Given the description of an element on the screen output the (x, y) to click on. 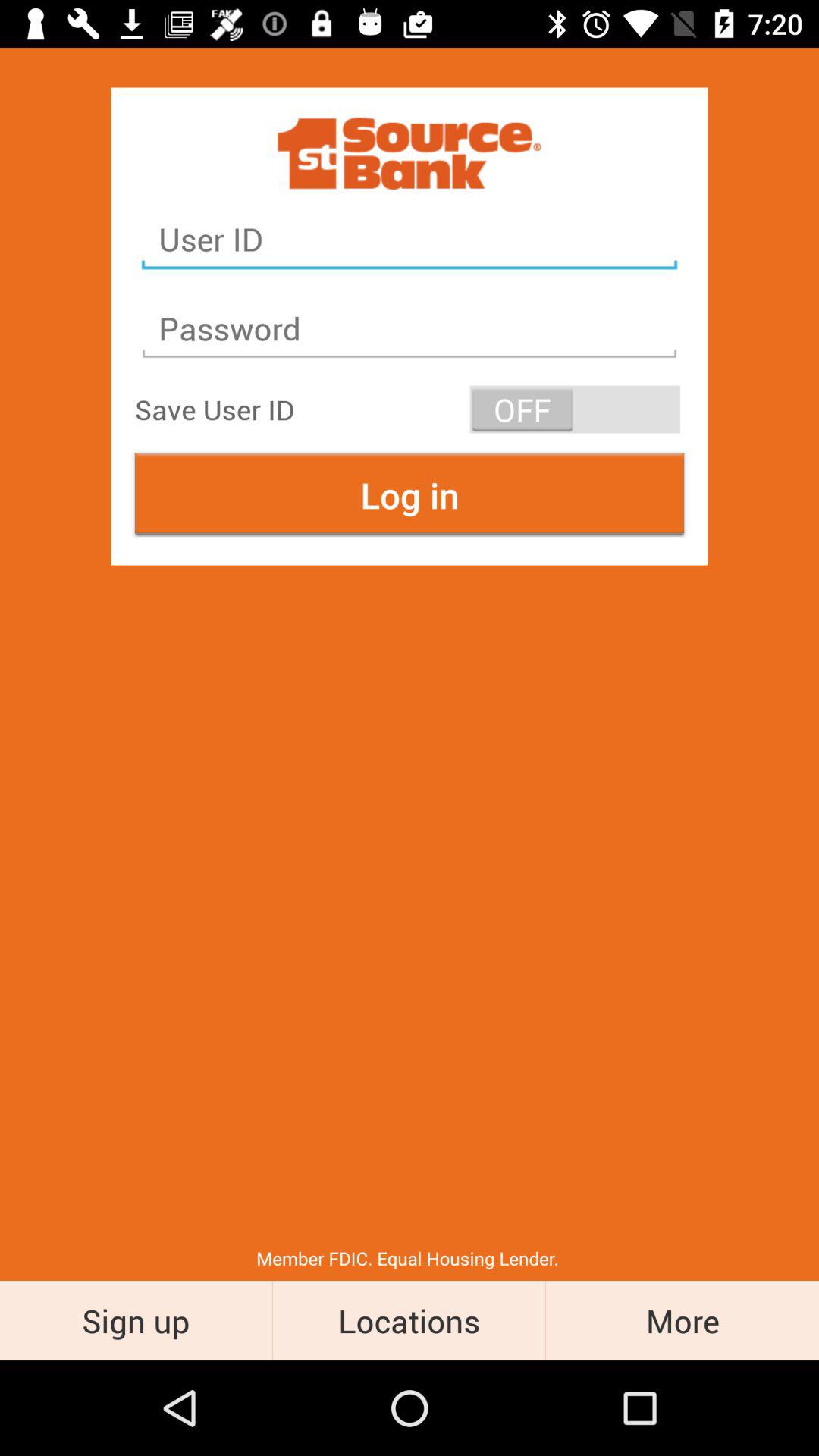
select the icon to the right of sign up item (409, 1320)
